Given the description of an element on the screen output the (x, y) to click on. 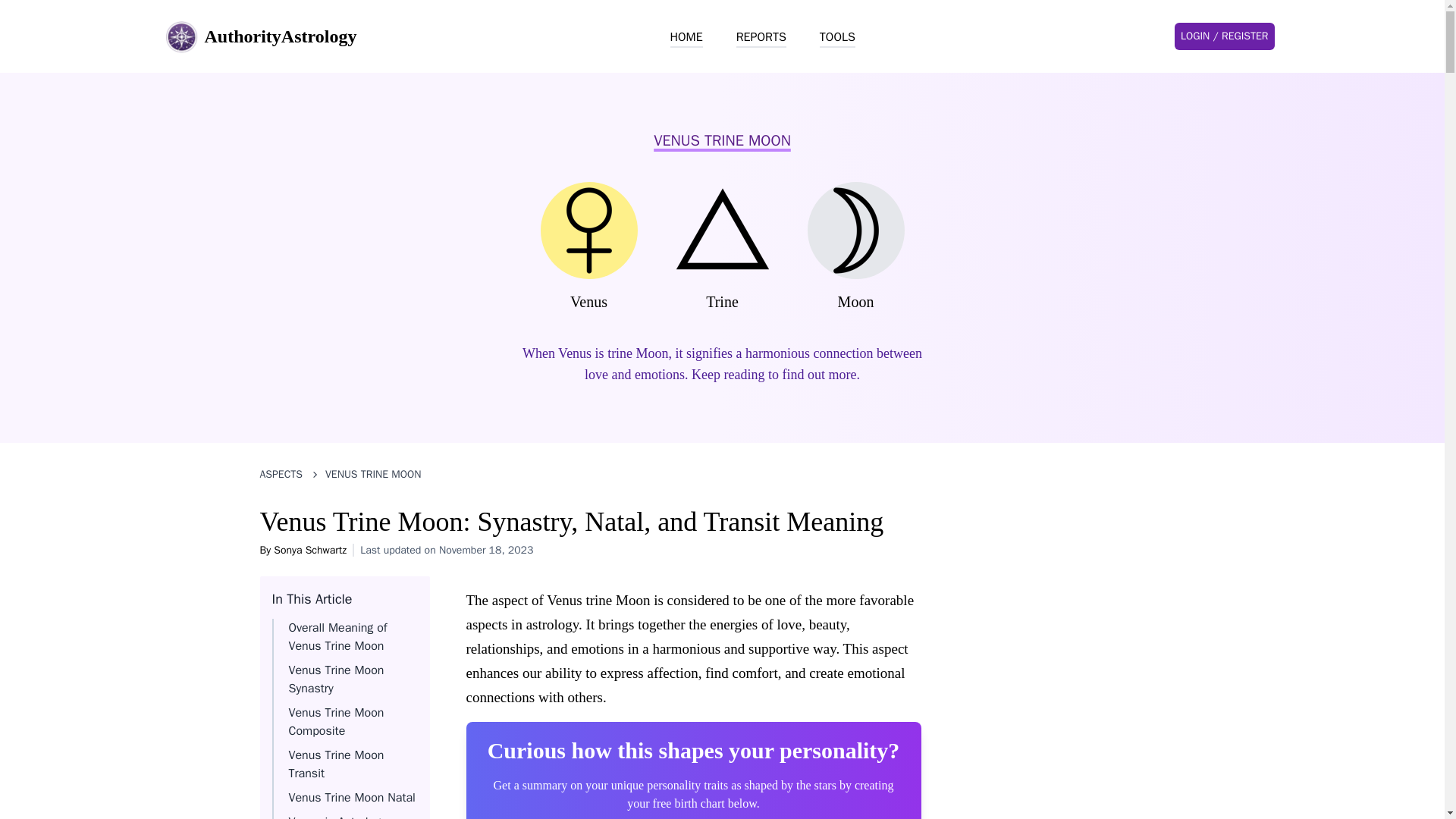
TOOLS (837, 37)
VENUS TRINE MOON (372, 474)
Venus Trine Moon Synastry (336, 679)
Venus Trine Moon Composite (336, 721)
Overall Meaning of Venus Trine Moon (337, 636)
REPORTS (761, 37)
HOME (686, 37)
ASPECTS (280, 474)
AuthorityAstrology (259, 36)
Venus in Astrology (336, 816)
